Given the description of an element on the screen output the (x, y) to click on. 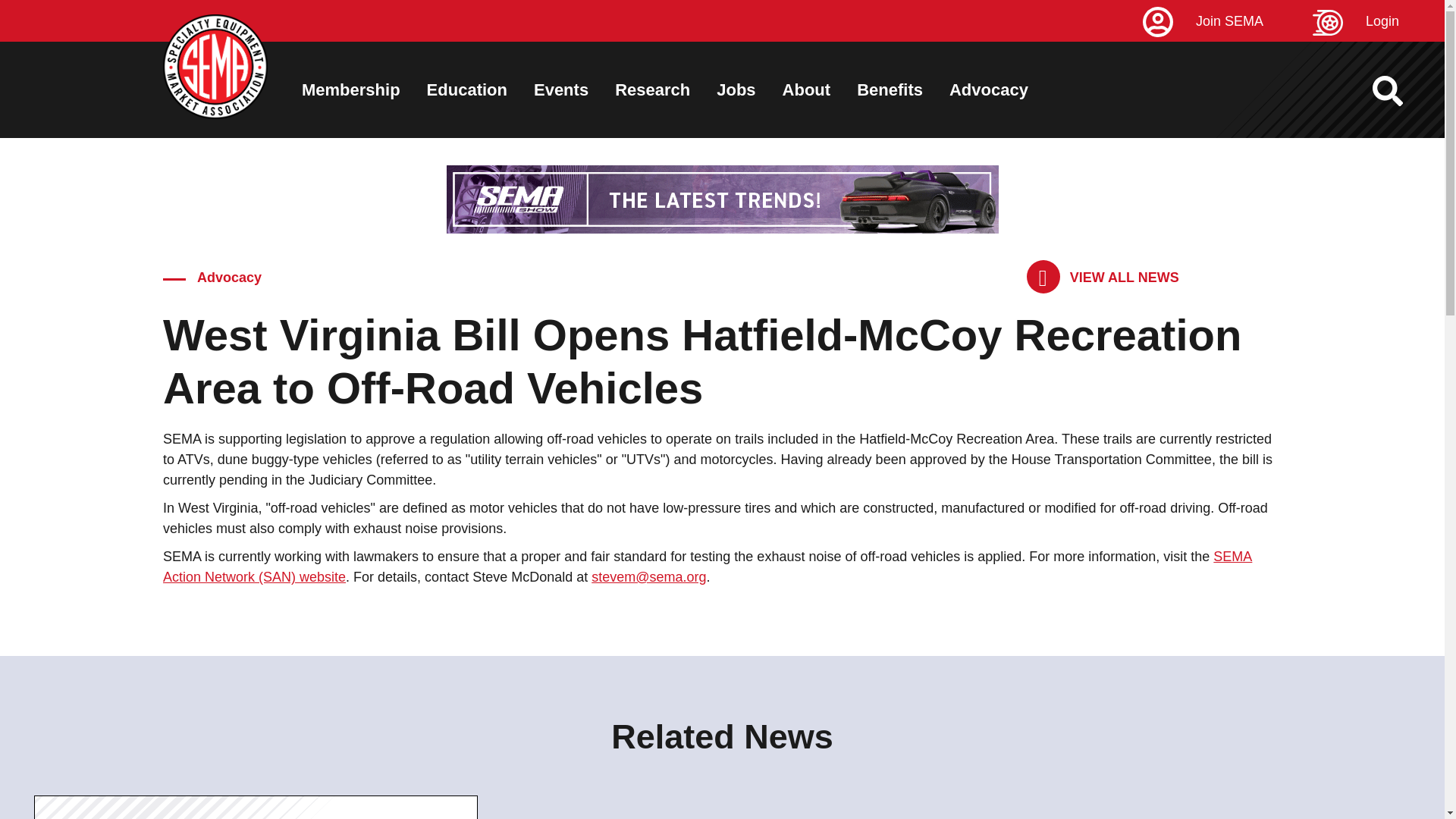
VIEW ALL NEWS (1102, 277)
Join SEMA (1225, 20)
Benefits (889, 89)
Research (652, 89)
Education (466, 89)
SEMA Show 2024 Attendee (721, 199)
Advocacy (988, 89)
Login (1378, 20)
eNews archive (1102, 277)
Search Sema.org (1401, 91)
Membership (350, 89)
